Given the description of an element on the screen output the (x, y) to click on. 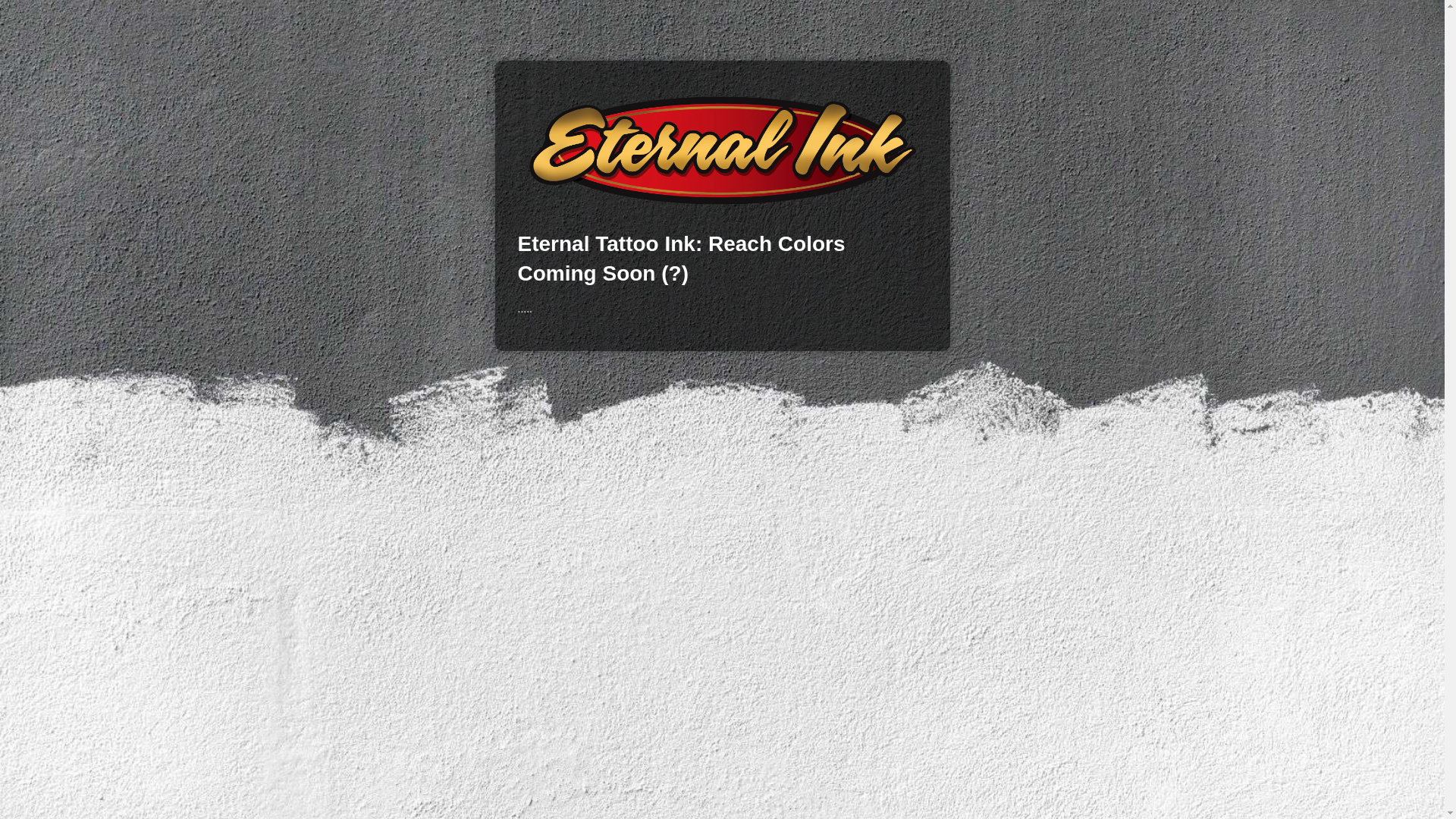
Eternal Tattoo Ink (721, 150)
